Given the description of an element on the screen output the (x, y) to click on. 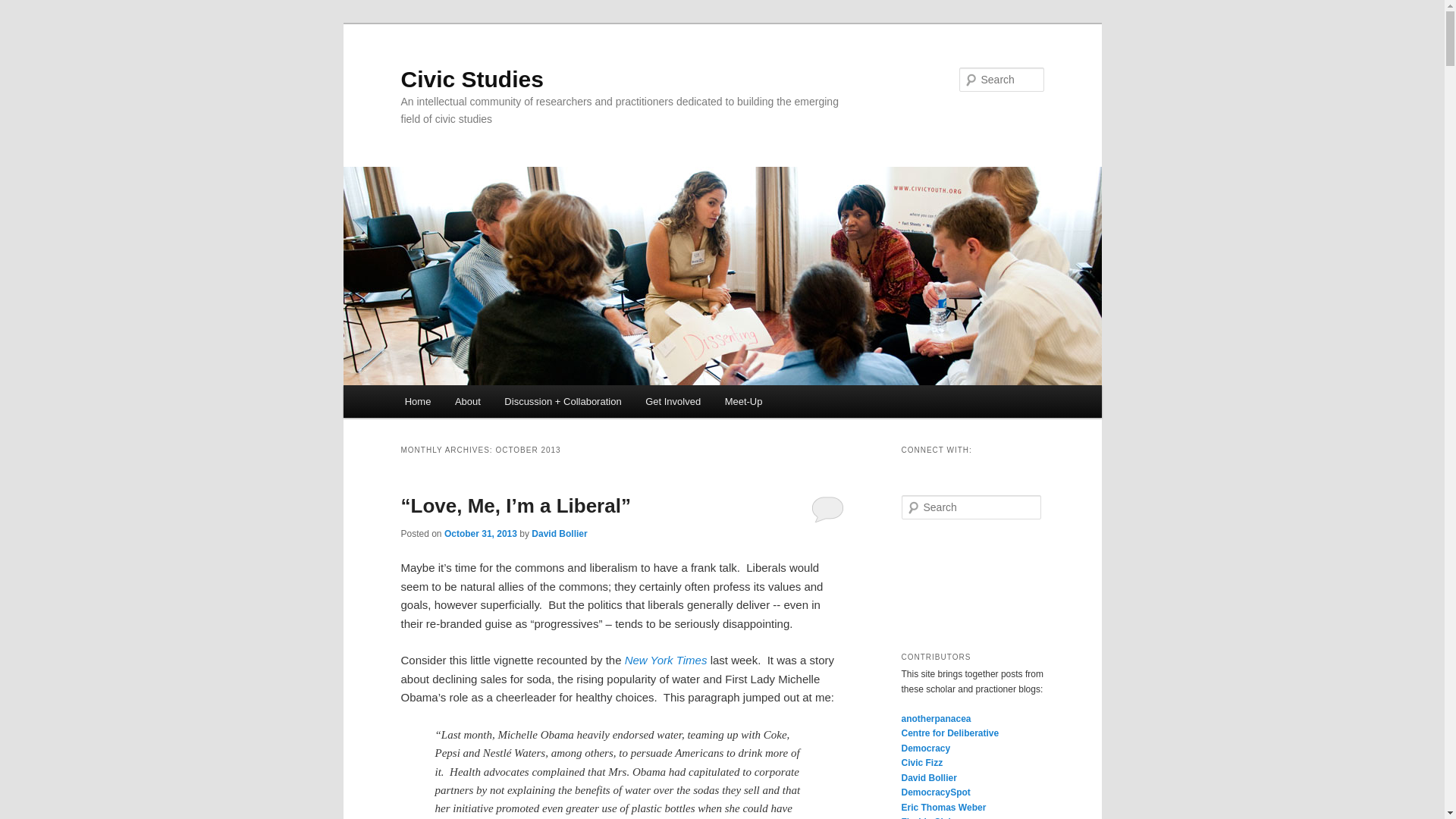
Meet-Up (743, 400)
David Bollier (558, 533)
Home (417, 400)
4:35 pm (480, 533)
Skip to secondary content (479, 403)
About (467, 400)
Civic Studies (471, 78)
Skip to primary content (472, 403)
Search (24, 8)
Skip to primary content (472, 403)
Civic Studies (471, 78)
New York Times (665, 659)
Skip to secondary content (479, 403)
October 31, 2013 (480, 533)
View all posts by David Bollier (558, 533)
